Given the description of an element on the screen output the (x, y) to click on. 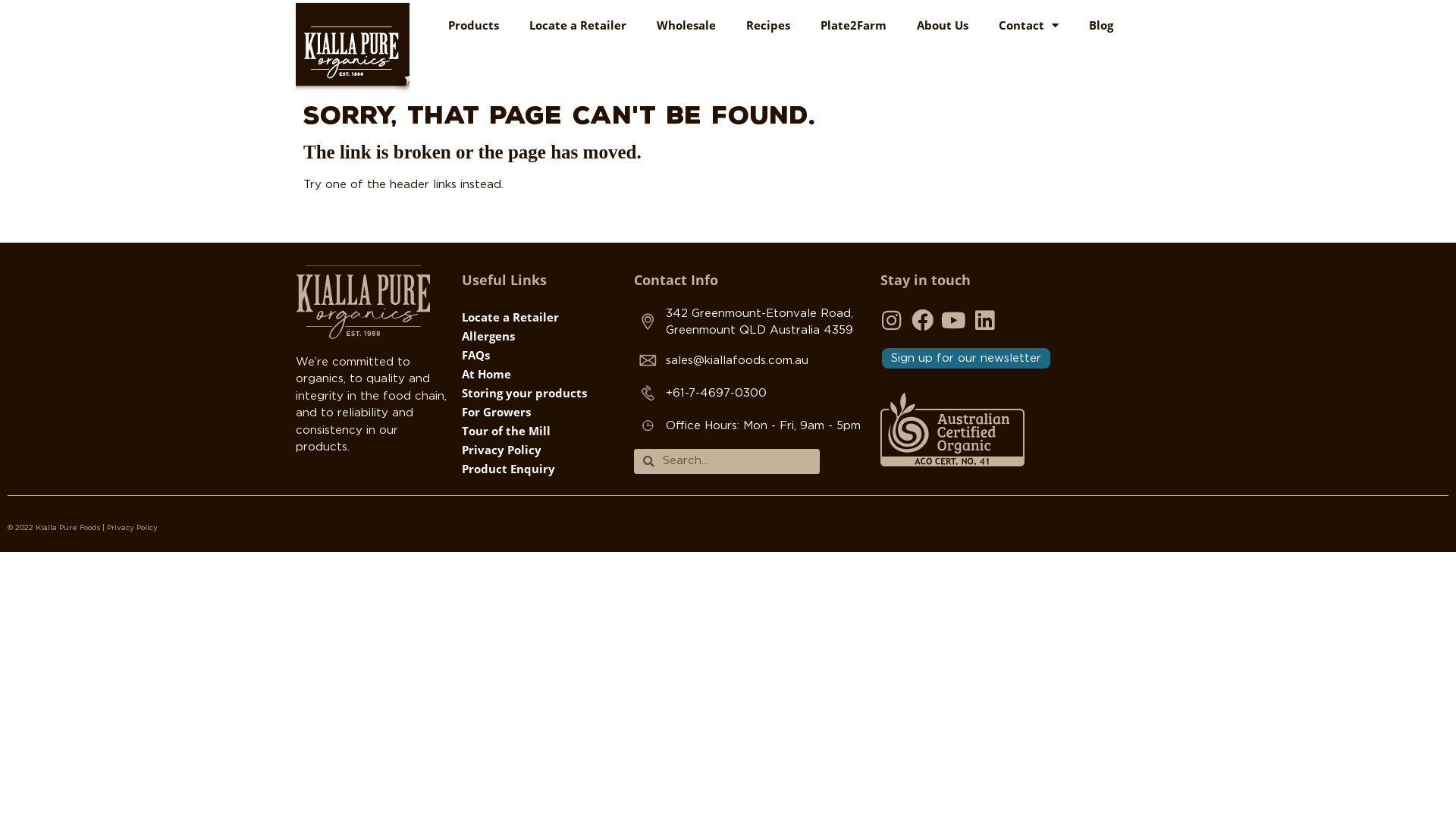
Locate a Retailer Element type: text (539, 316)
+61-7-4697-0300 Element type: text (749, 393)
Products Element type: text (473, 24)
Tour of the Mill Element type: text (539, 430)
Sign up for our newsletter Element type: text (965, 358)
Locate a Retailer Element type: text (577, 24)
Contact Element type: text (1028, 24)
At Home Element type: text (539, 373)
Product Enquiry Element type: text (539, 468)
sales@kiallafoods.com.au Element type: text (749, 360)
For Growers Element type: text (539, 411)
About Us Element type: text (942, 24)
Privacy Policy Element type: text (131, 527)
Blog Element type: text (1100, 24)
Storing your products Element type: text (539, 392)
FAQs Element type: text (539, 354)
Wholesale Element type: text (686, 24)
Privacy Policy Element type: text (539, 449)
Plate2Farm Element type: text (853, 24)
Recipes Element type: text (768, 24)
Allergens Element type: text (539, 335)
